Given the description of an element on the screen output the (x, y) to click on. 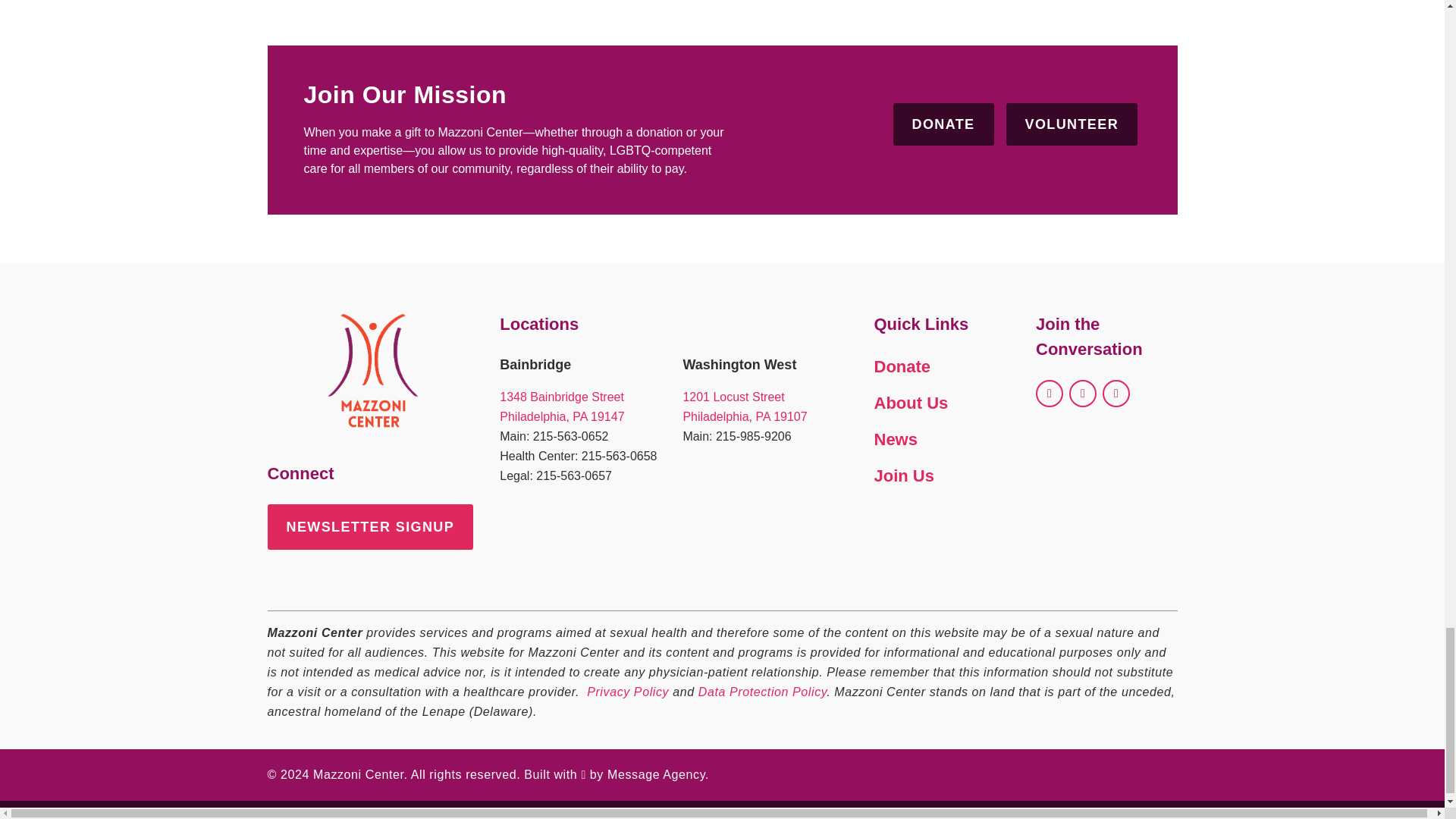
A full service Drupal agency (655, 774)
